Given the description of an element on the screen output the (x, y) to click on. 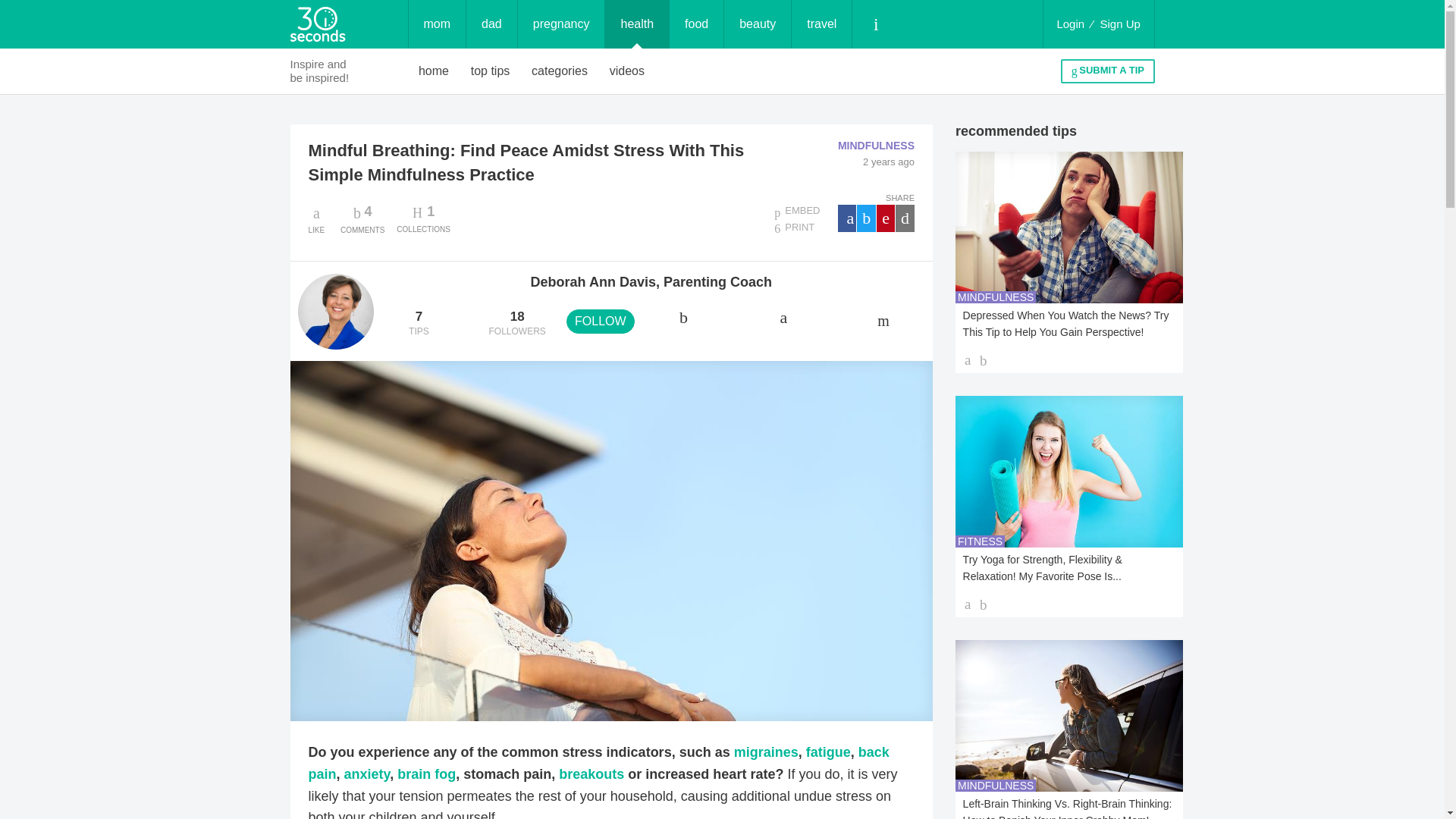
Login (1069, 23)
categories (559, 71)
home (433, 71)
health (636, 24)
top tips (489, 71)
beauty (756, 24)
dad (490, 24)
mom (362, 218)
Sign Up (436, 24)
pregnancy (1120, 23)
food (561, 24)
travel (696, 24)
